Given the description of an element on the screen output the (x, y) to click on. 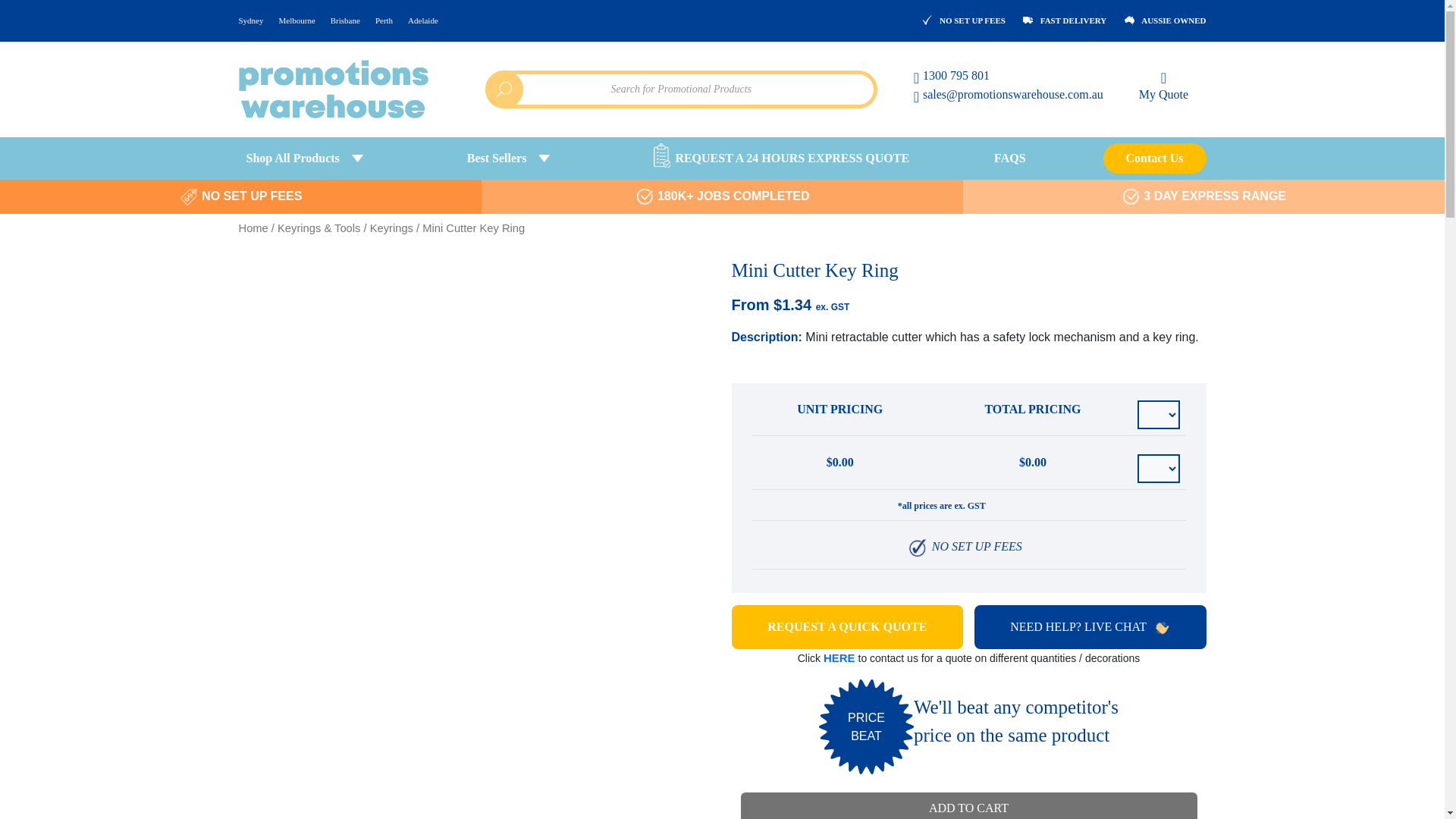
Sydney (254, 20)
Melbourne (296, 20)
Shop All Products (313, 157)
Adelaide (422, 20)
Brisbane (345, 20)
AUSSIE OWNED (1165, 19)
Perth (384, 20)
FAST DELIVERY (1064, 19)
NO SET UP FEES (962, 19)
1300 795 801 (1008, 78)
My Quote (1163, 84)
Shop All Products (313, 157)
